Given the description of an element on the screen output the (x, y) to click on. 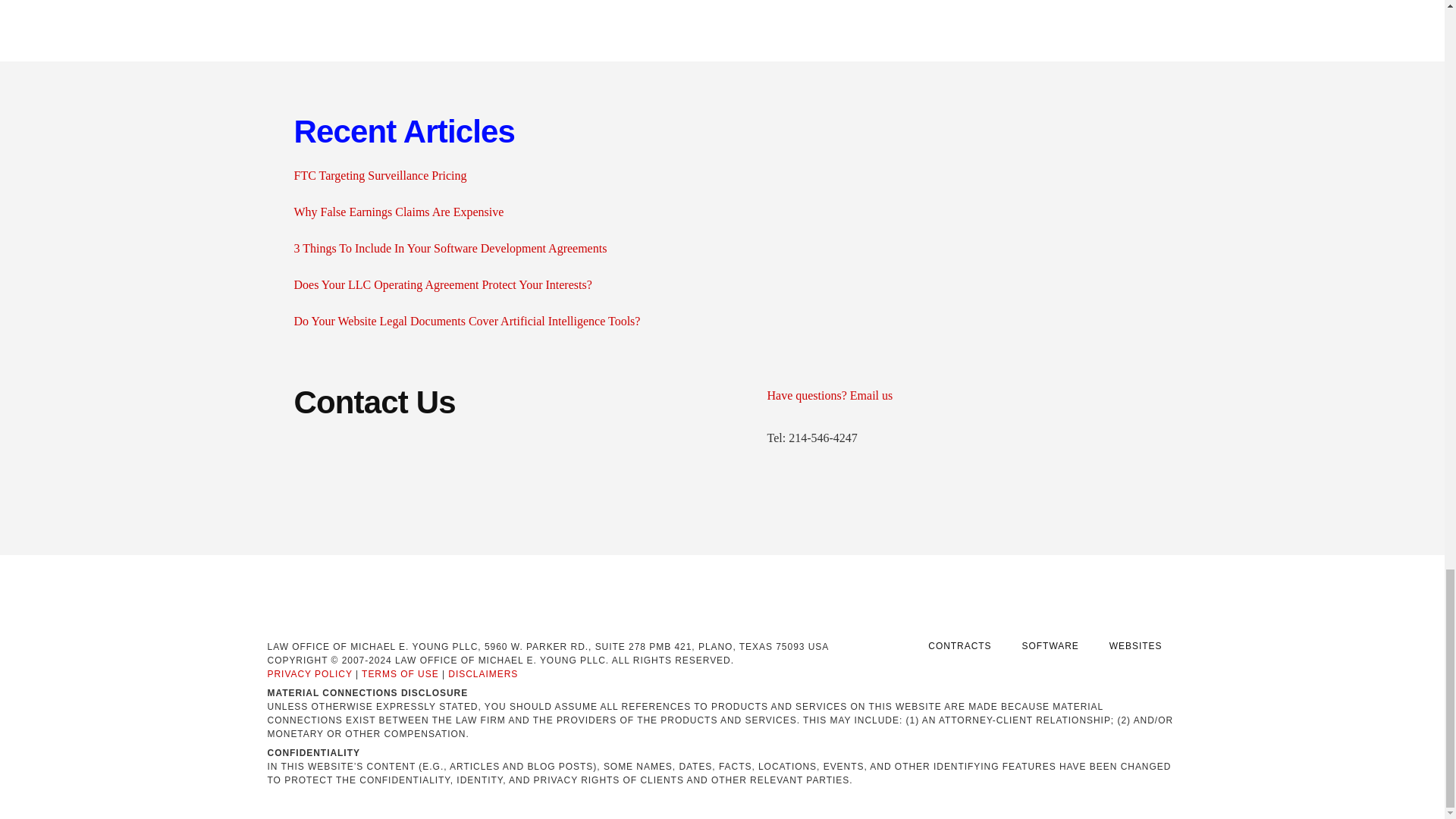
FTC Targeting Surveillance Pricing (380, 174)
3 Things To Include In Your Software Development Agreements (450, 247)
Why False Earnings Claims Are Expensive (398, 211)
